Given the description of an element on the screen output the (x, y) to click on. 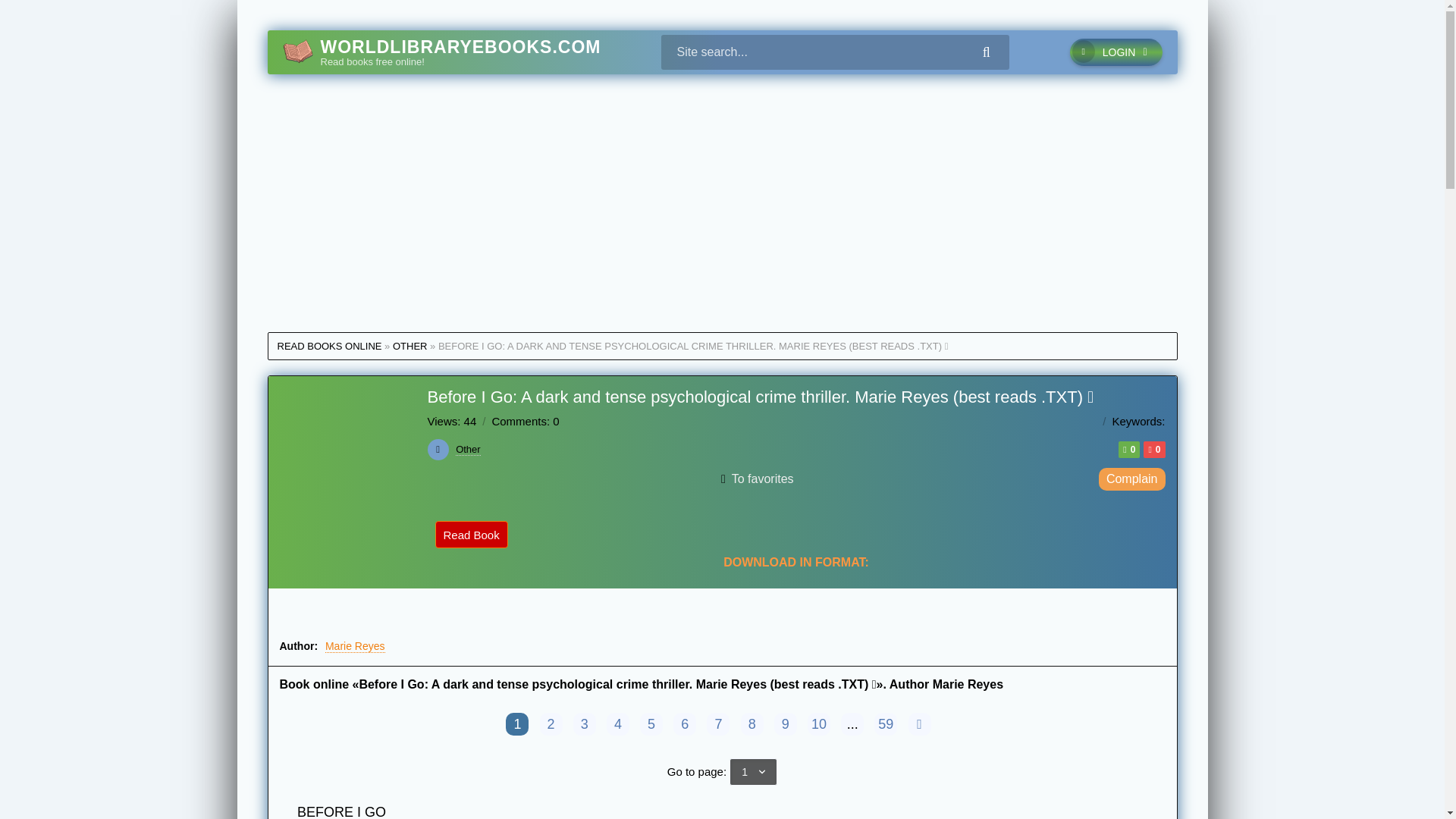
7 (717, 723)
59 (885, 723)
4 (617, 723)
8 (751, 723)
9 (785, 723)
Read Book (471, 533)
Marie Reyes (968, 684)
READ BOOKS ONLINE (329, 346)
Other (467, 449)
